Given the description of an element on the screen output the (x, y) to click on. 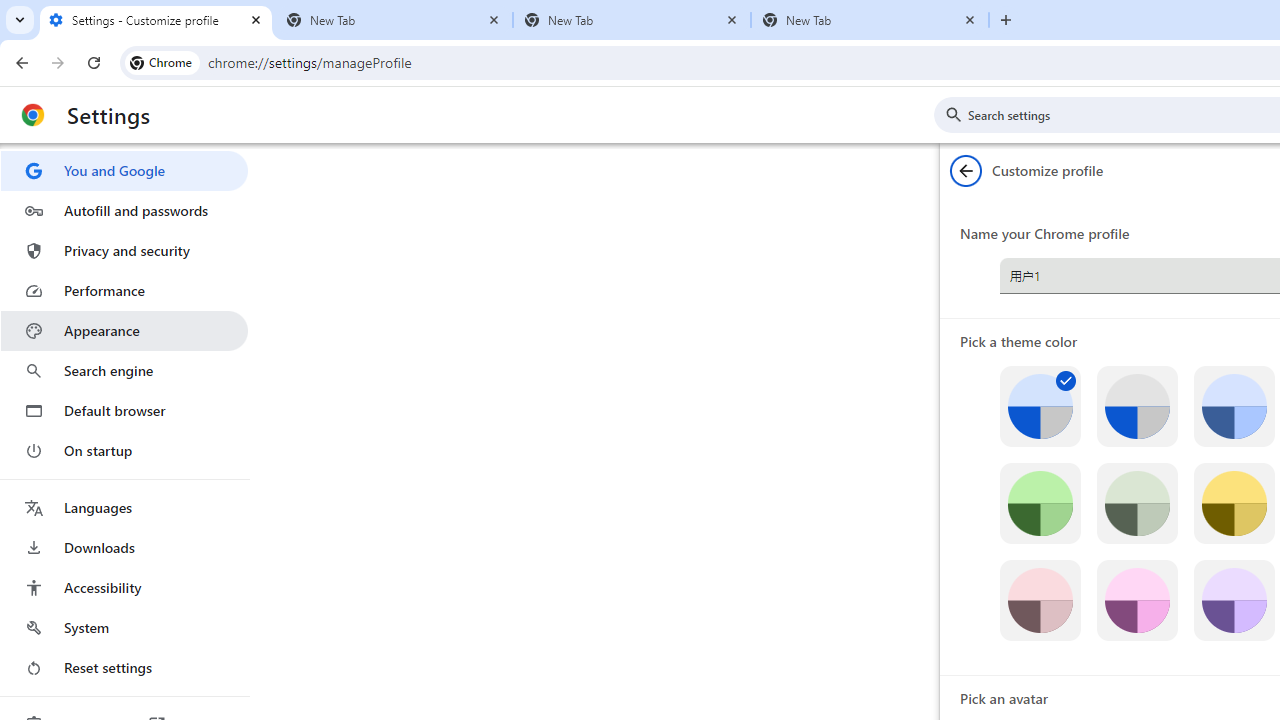
You and Google (124, 170)
Performance (124, 290)
New Tab (870, 20)
Appearance (124, 331)
New Tab (394, 20)
Autofill and passwords (124, 210)
Languages (124, 507)
Downloads (124, 547)
Reset settings (124, 668)
Privacy and security (124, 250)
